Given the description of an element on the screen output the (x, y) to click on. 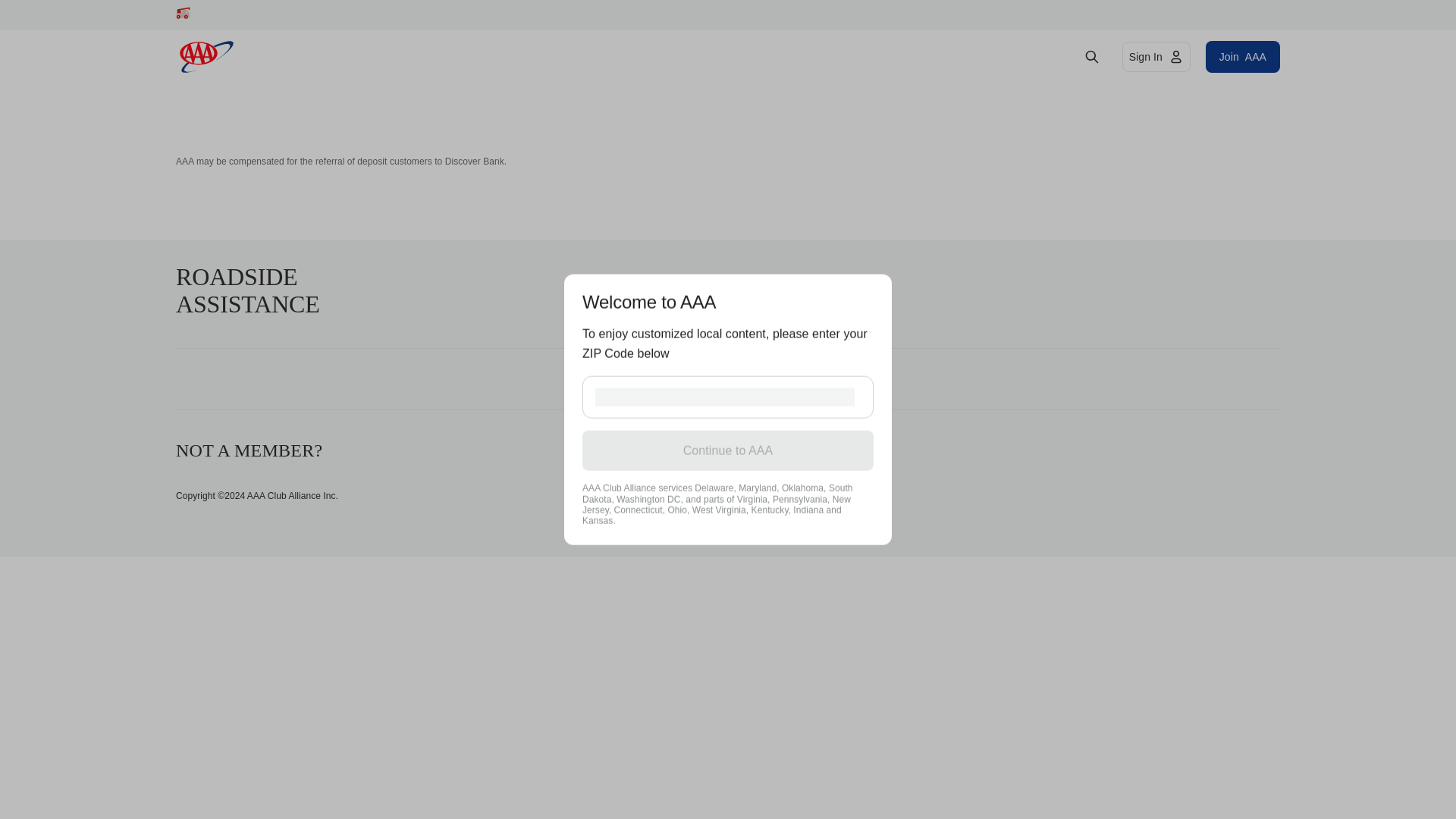
Sign In (1242, 56)
Continue to AAA (1156, 56)
